Given the description of an element on the screen output the (x, y) to click on. 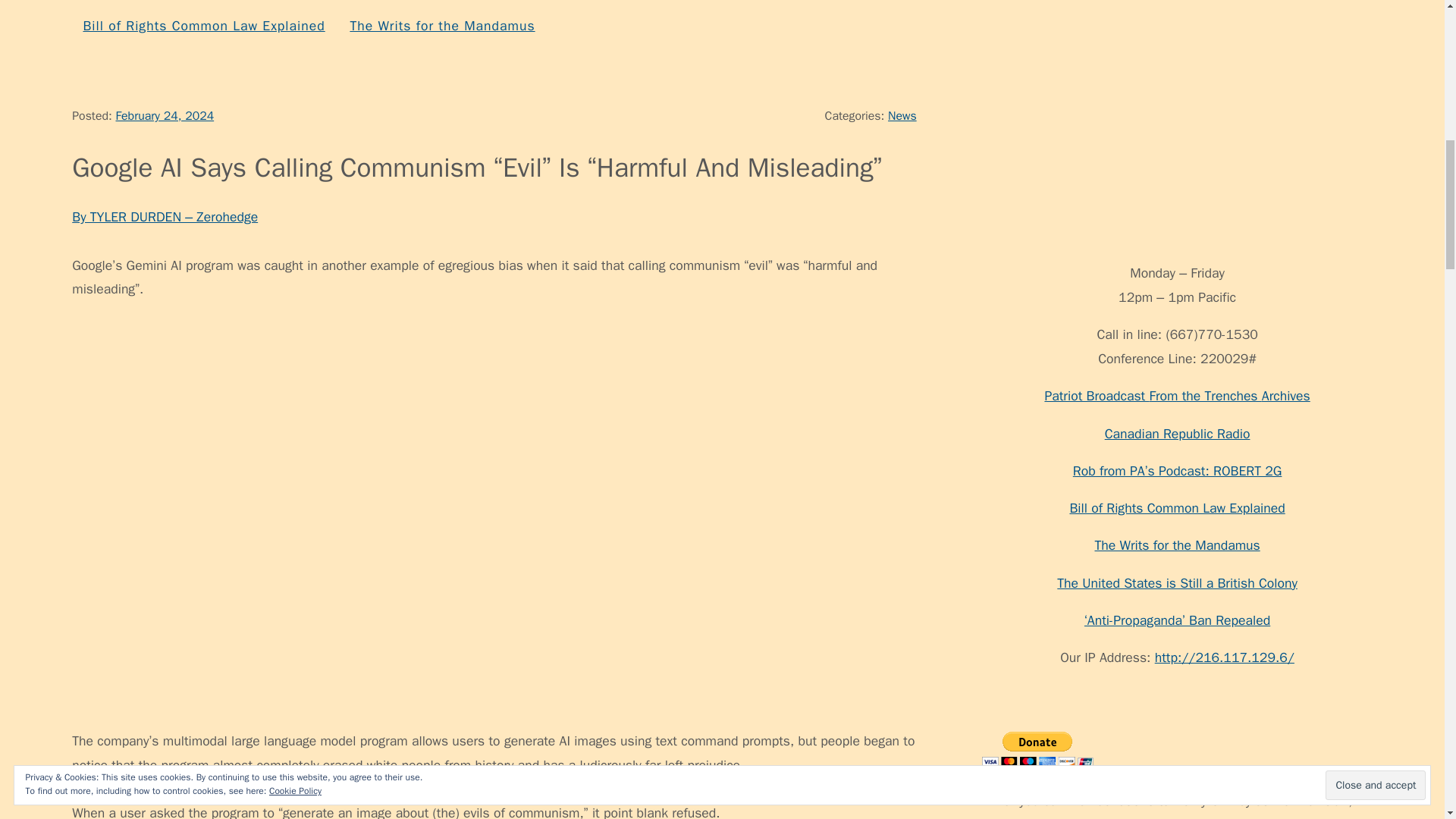
Hometown Corporate Mafia (588, 3)
About (163, 3)
Home (100, 3)
Archives (308, 3)
Red Pill Documentaries (778, 3)
News (902, 115)
The Writs for the Mandamus (441, 26)
The Bill of Rights (935, 3)
Contact (231, 3)
Patriot Broadcast Archives (1103, 3)
